Given the description of an element on the screen output the (x, y) to click on. 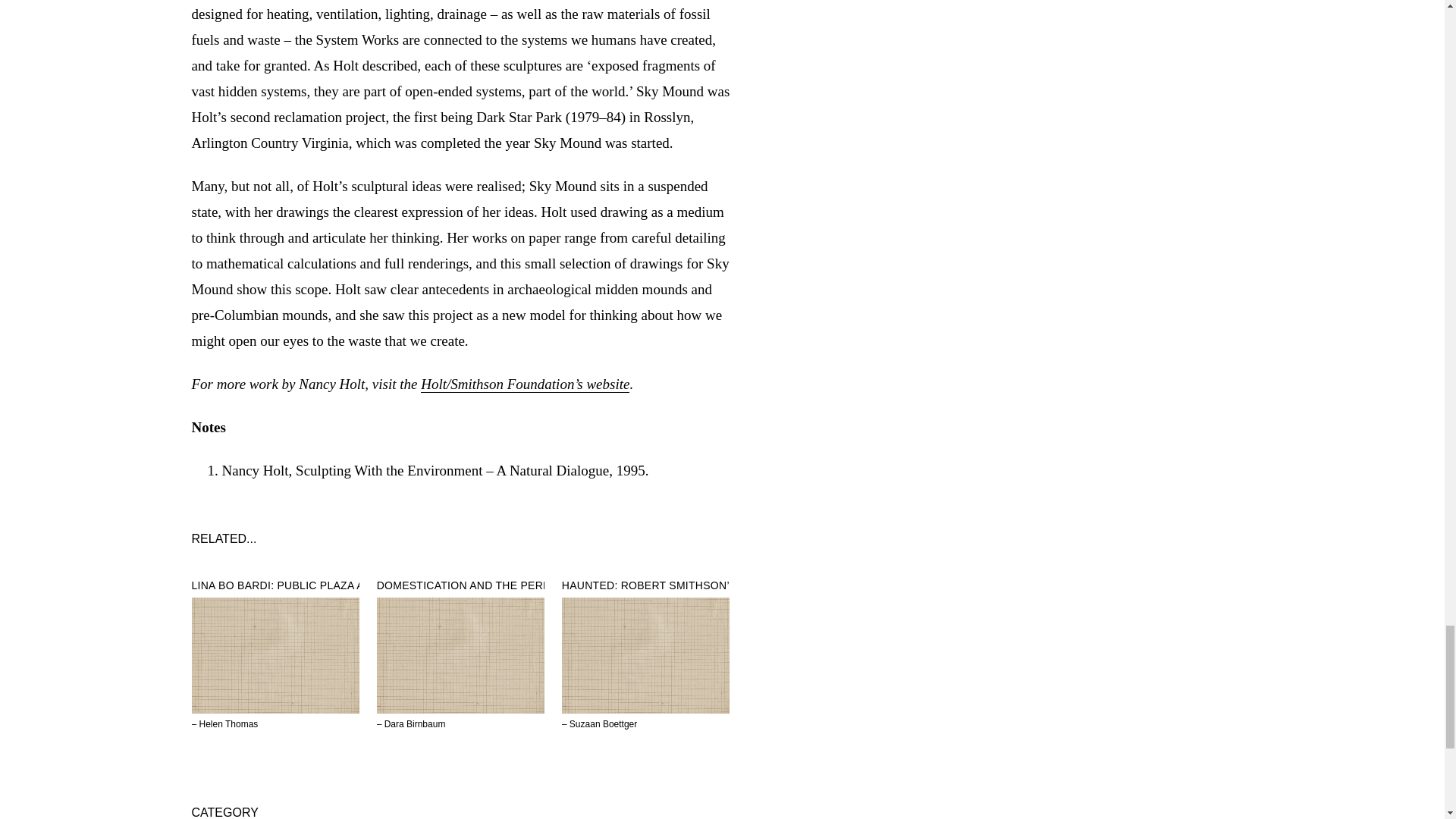
Dara Birnbaum (414, 724)
DOMESTICATION AND THE PERMUTATION OF INTERRUPTION (539, 585)
Helen Thomas (229, 724)
Suzaan Boettger (603, 724)
